Given the description of an element on the screen output the (x, y) to click on. 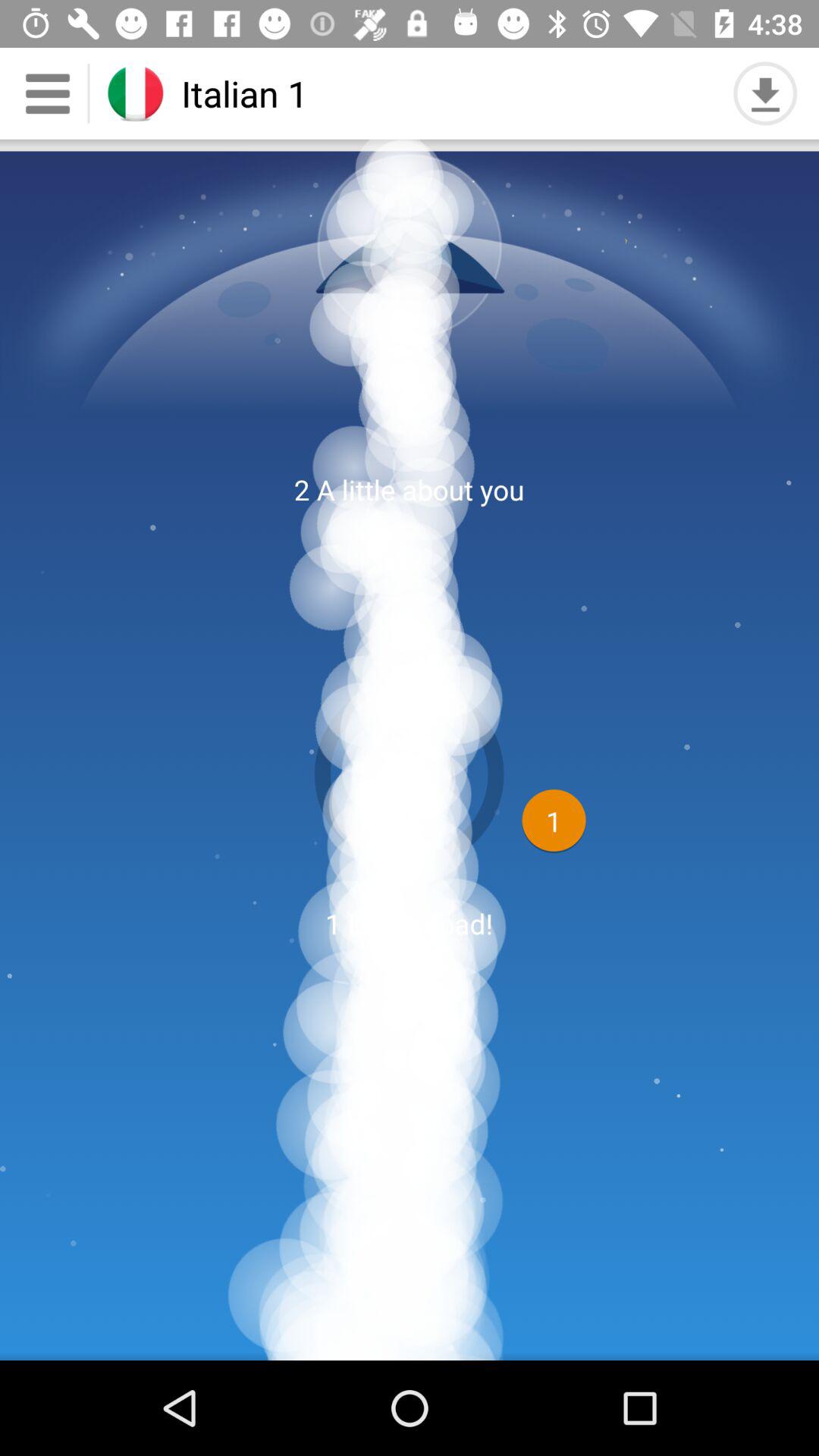
click on the logo positioned left to italian 1 at the top left corner (135, 93)
